Given the description of an element on the screen output the (x, y) to click on. 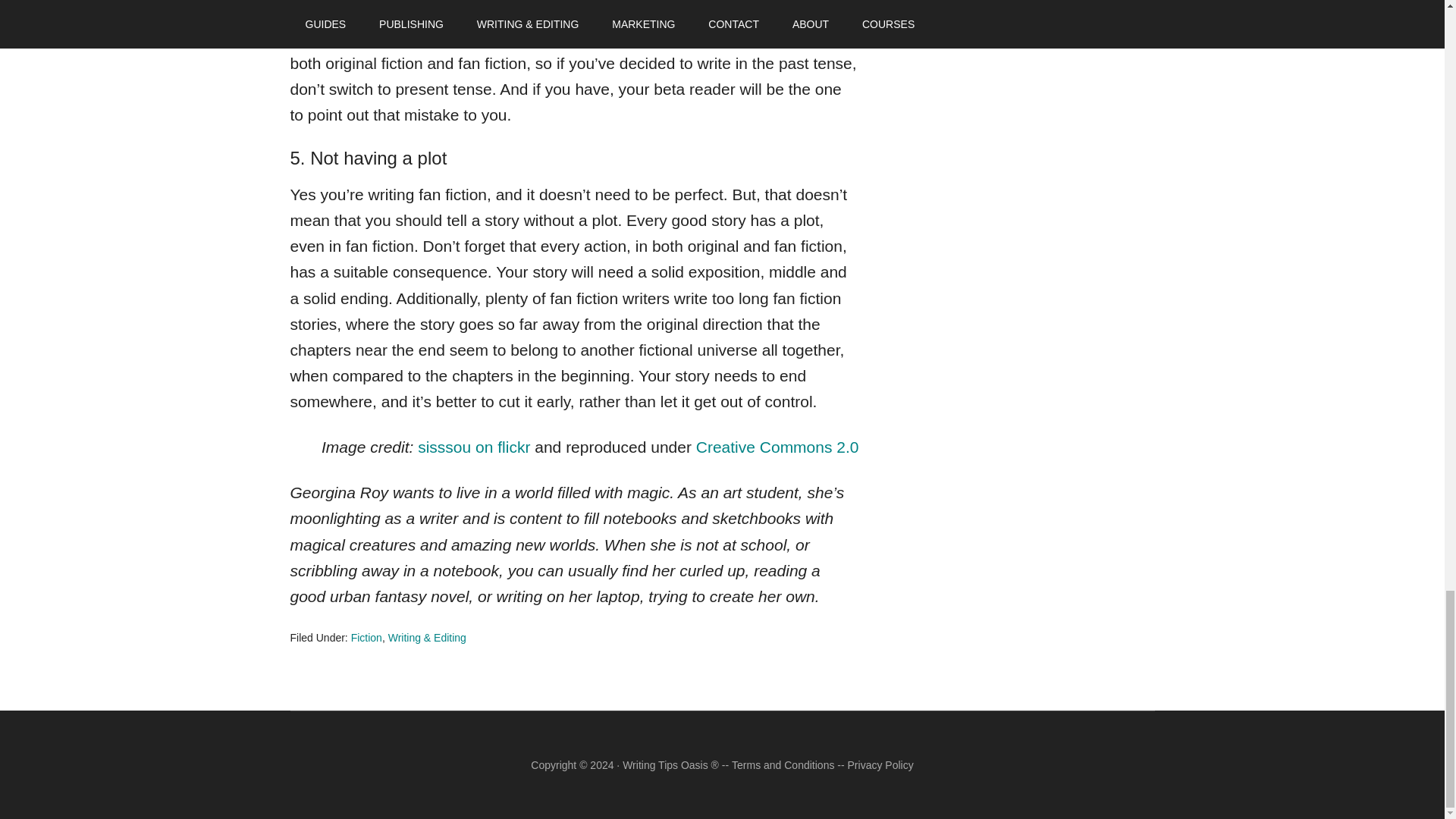
Fiction (365, 637)
Privacy Policy (880, 765)
Terms and Conditions (783, 765)
Creative Commons 2.0 (777, 446)
sisssou on flickr (473, 446)
